Given the description of an element on the screen output the (x, y) to click on. 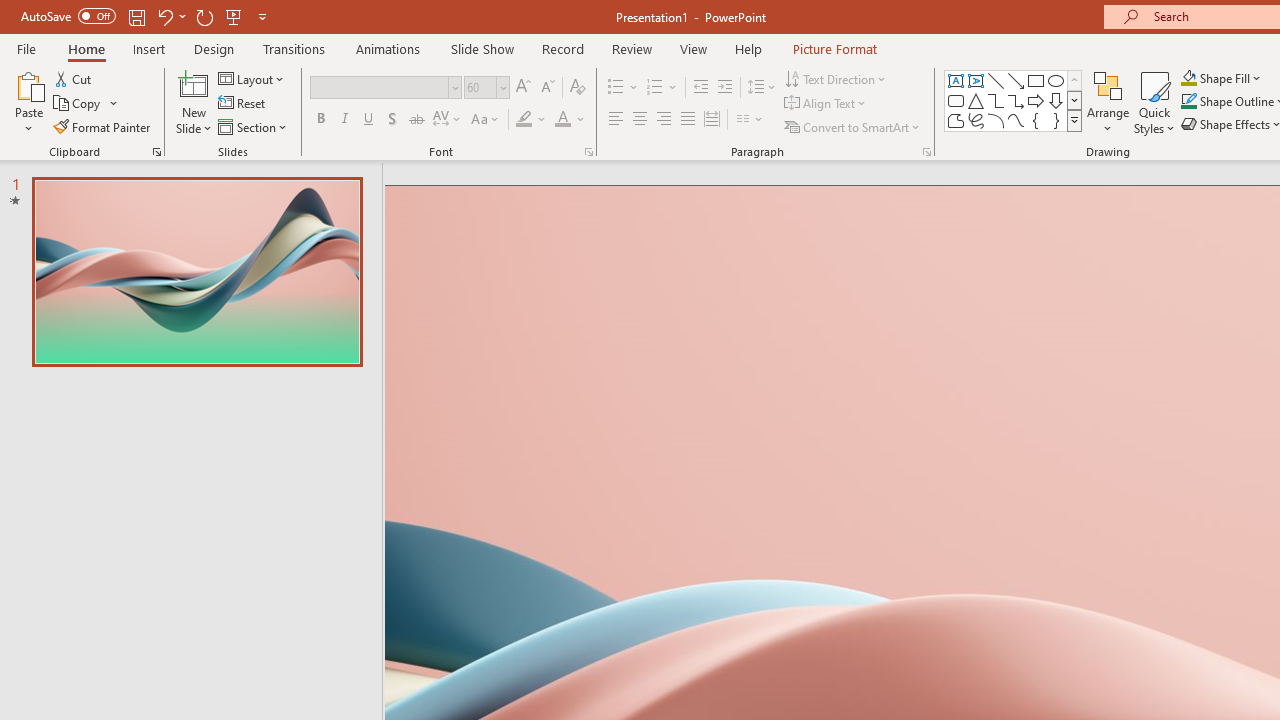
Quick Access Toolbar (145, 16)
Arrange (1108, 102)
Rectangle (1035, 80)
Text Highlight Color Yellow (524, 119)
Font Size (486, 87)
Text Box (955, 80)
Transitions (294, 48)
Paragraph... (926, 151)
Increase Font Size (522, 87)
Shadow (392, 119)
New Slide (193, 102)
Increase Indent (725, 87)
Arrow: Right (1035, 100)
Distributed (712, 119)
Line Arrow (1016, 80)
